Given the description of an element on the screen output the (x, y) to click on. 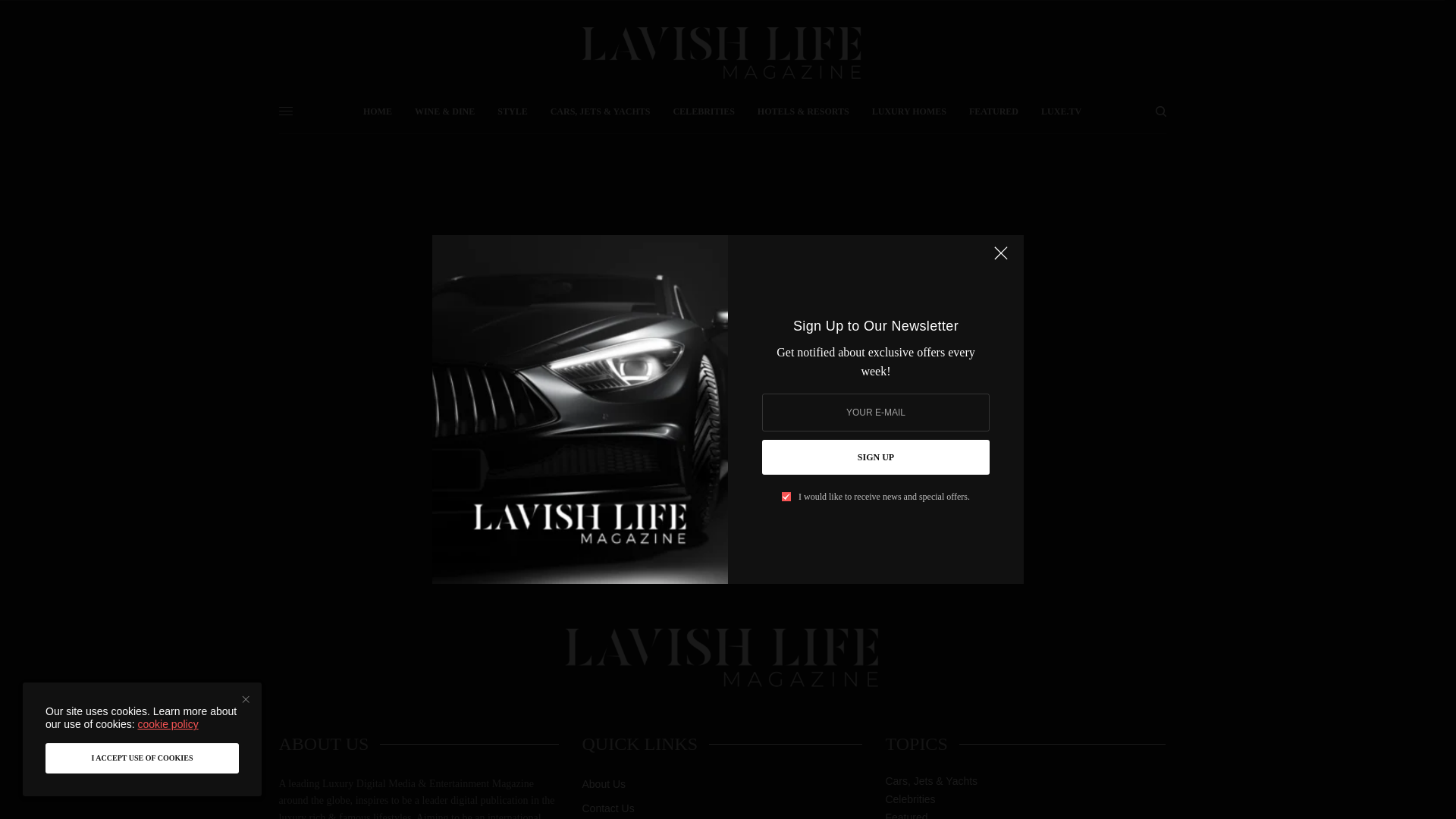
CELEBRITIES (702, 111)
About Us (603, 784)
HOME (376, 111)
Contact Us (606, 808)
SIGN UP (875, 457)
LUXURY HOMES (909, 111)
LUXE.TV (1061, 111)
Celebrities (909, 798)
STYLE (512, 111)
Lavish Life (720, 54)
FEATURED (993, 111)
Lavish Life (721, 658)
Featured (906, 815)
